Given the description of an element on the screen output the (x, y) to click on. 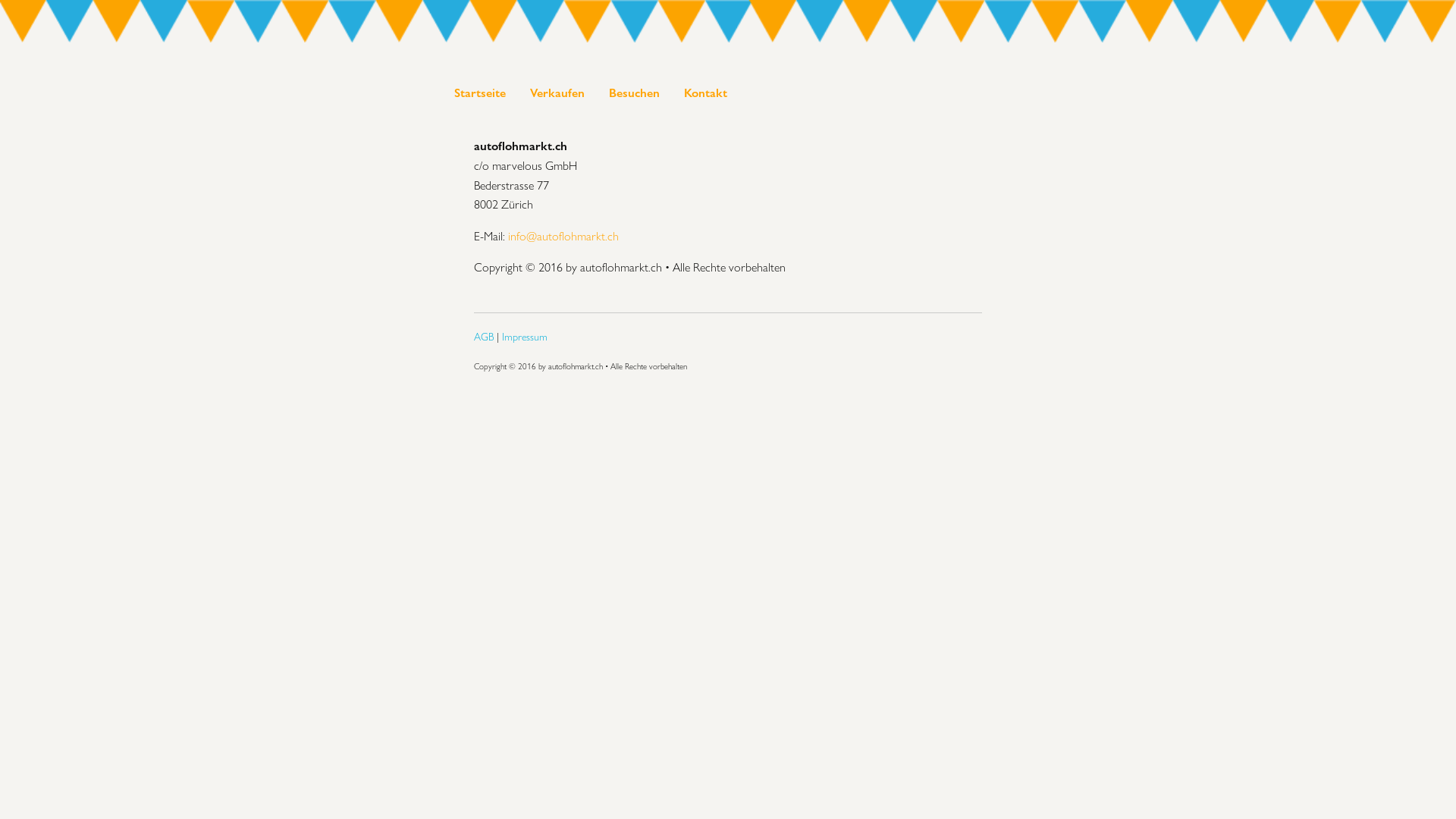
Impressum Element type: text (524, 335)
Verkaufen Element type: text (556, 92)
Besuchen Element type: text (633, 92)
info@autoflohmarkt.ch Element type: text (563, 236)
AGB Element type: text (483, 335)
Kontakt Element type: text (705, 92)
Startseite Element type: text (479, 92)
